Given the description of an element on the screen output the (x, y) to click on. 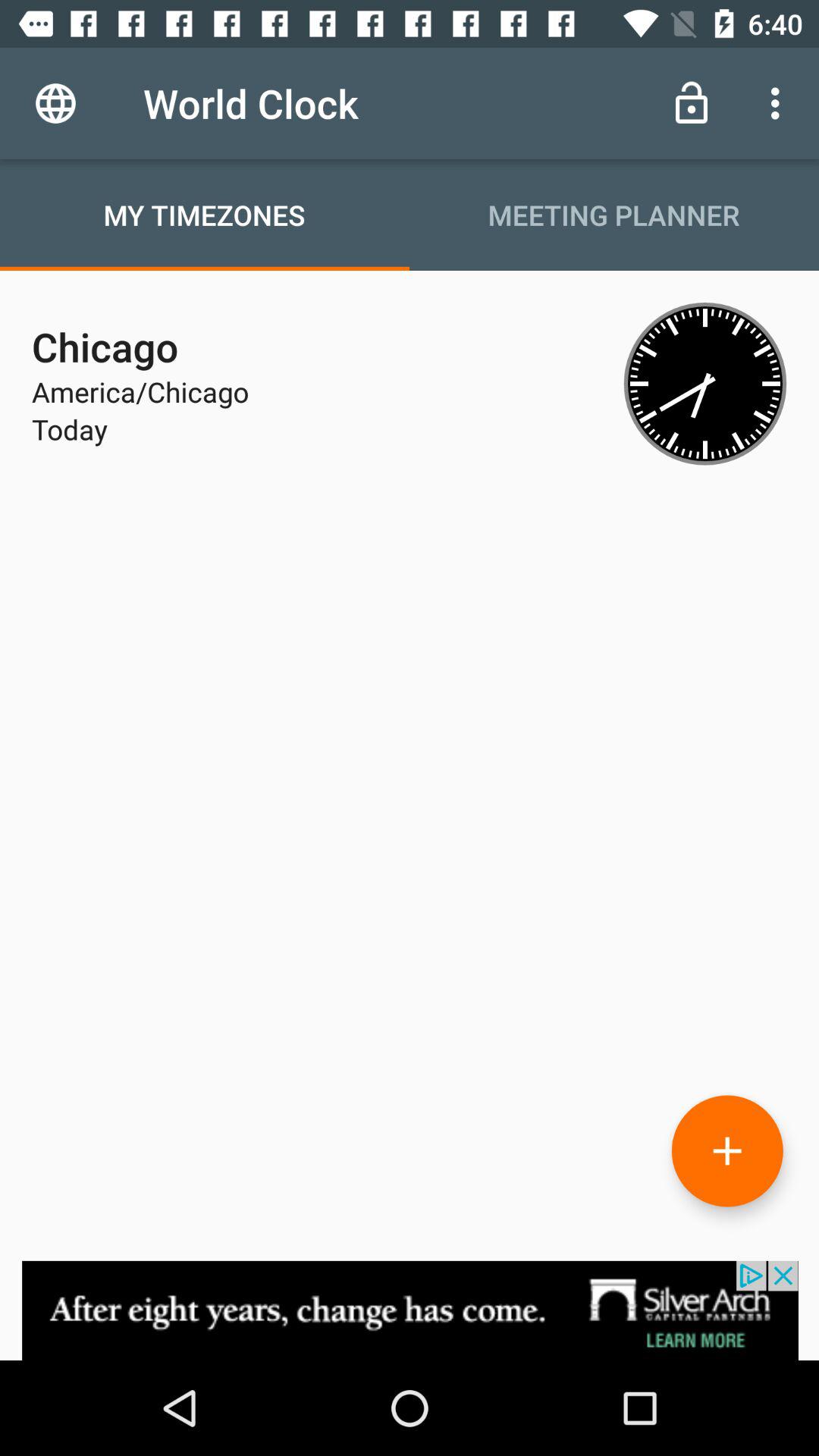
go to add option (727, 1150)
